Given the description of an element on the screen output the (x, y) to click on. 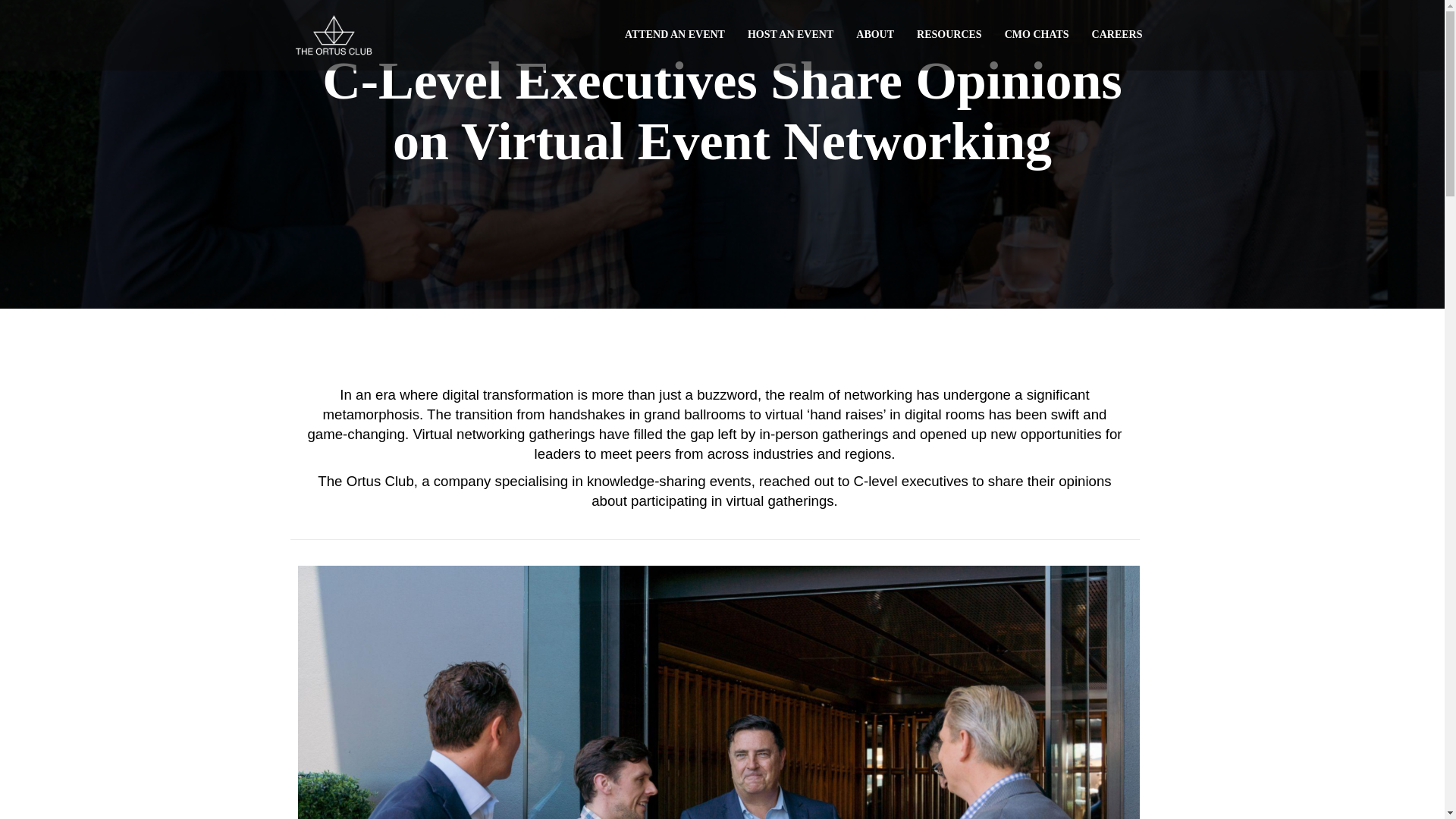
CMO CHATS (1036, 34)
About (874, 34)
ABOUT (874, 34)
Attend an Event (674, 34)
RESOURCES (948, 34)
Resources (948, 34)
Careers (1117, 34)
HOST AN EVENT (790, 34)
CMO CHATS (1036, 34)
Host an Event (790, 34)
CAREERS (1117, 34)
ATTEND AN EVENT (674, 34)
